Given the description of an element on the screen output the (x, y) to click on. 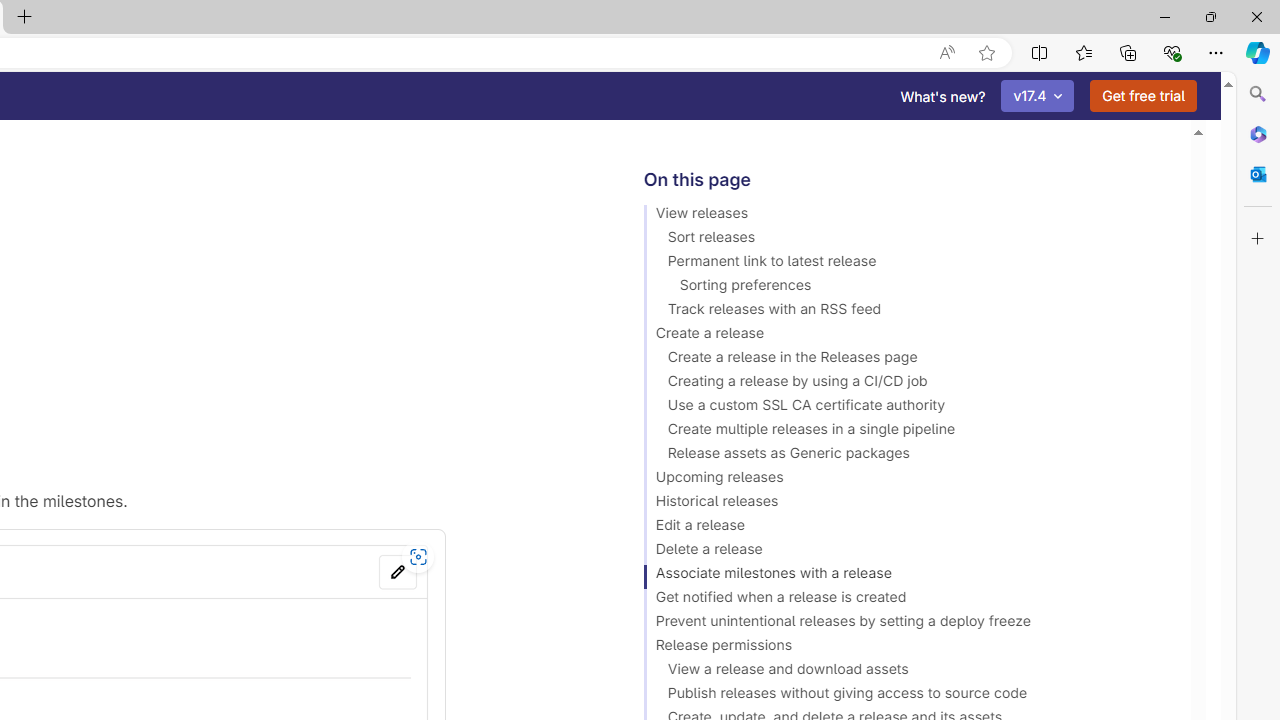
Create a release in the Releases page (908, 359)
Associate milestones with a release (908, 575)
Create a release in the Releases page (908, 359)
Release assets as Generic packages (908, 456)
Edit a release (908, 528)
Release permissions (908, 647)
What's new? (943, 96)
Upcoming releases (908, 480)
Historical releases (908, 503)
Sorting preferences (908, 287)
